Given the description of an element on the screen output the (x, y) to click on. 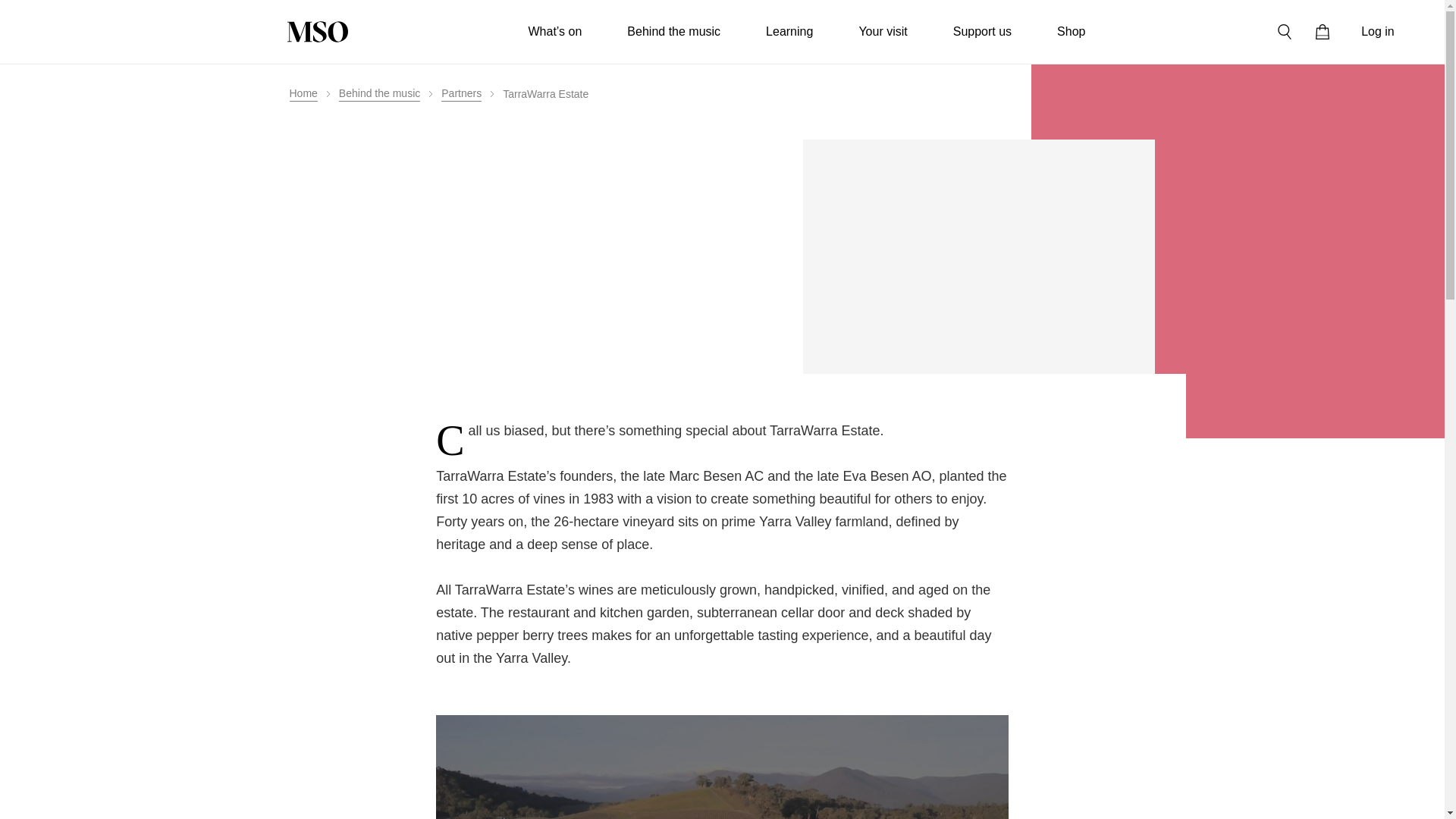
Learning (788, 31)
Your visit (882, 31)
Melbourne Syphony Orchestra (316, 31)
Behind the music (673, 31)
